Given the description of an element on the screen output the (x, y) to click on. 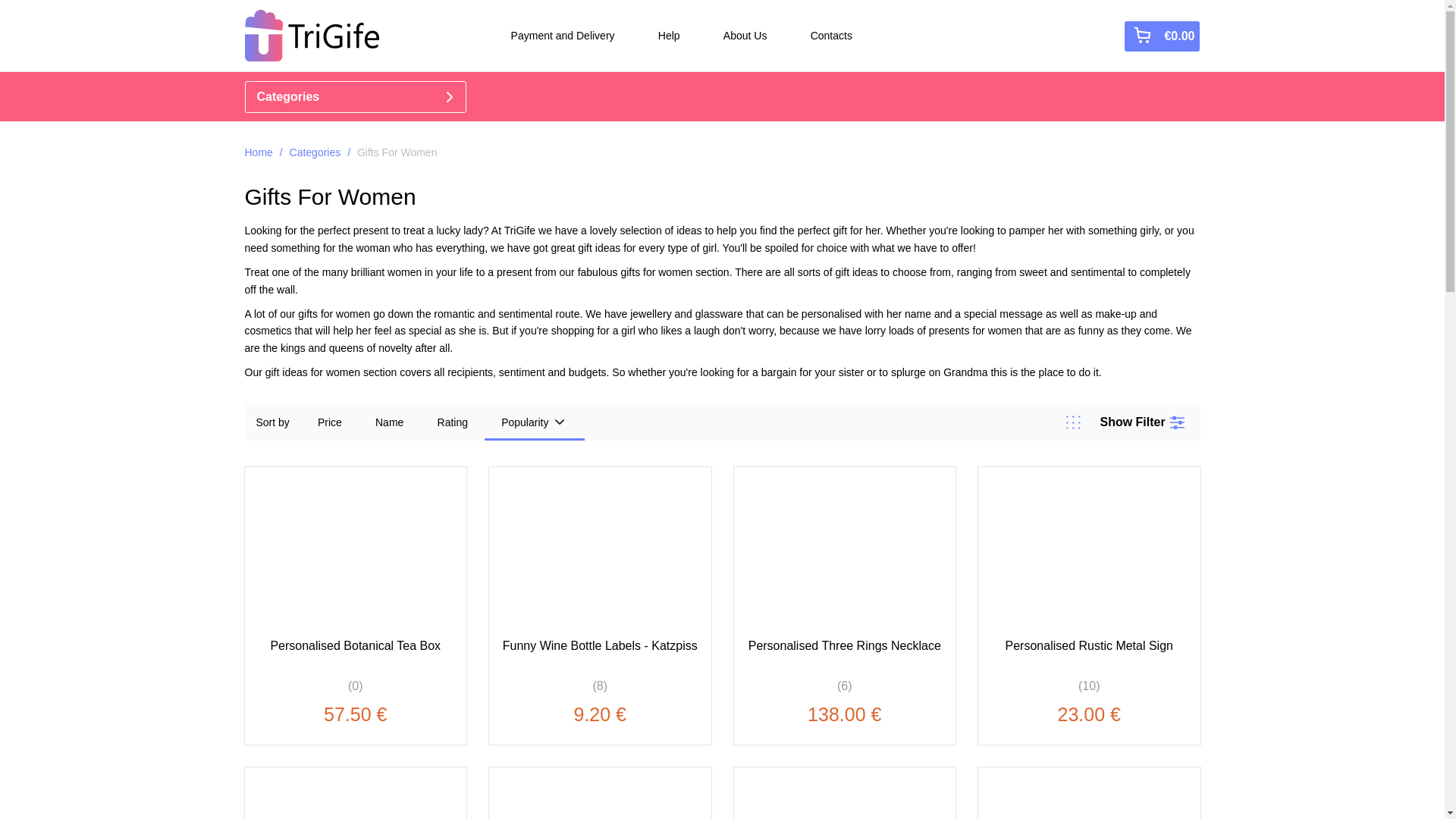
Rating (452, 422)
Categories (314, 152)
Price (329, 422)
Popularity (534, 422)
About Us (745, 35)
Funny Wine Bottle Labels - Katzpiss (600, 654)
Personalised Three Rings Necklace (843, 654)
Name (389, 422)
Personalised Botanical Tea Box (355, 654)
Personalised Rustic Metal Sign (1089, 654)
Payment and Delivery (562, 35)
Categories (354, 97)
Show Filter (1143, 422)
Home (258, 152)
Contacts (831, 35)
